Given the description of an element on the screen output the (x, y) to click on. 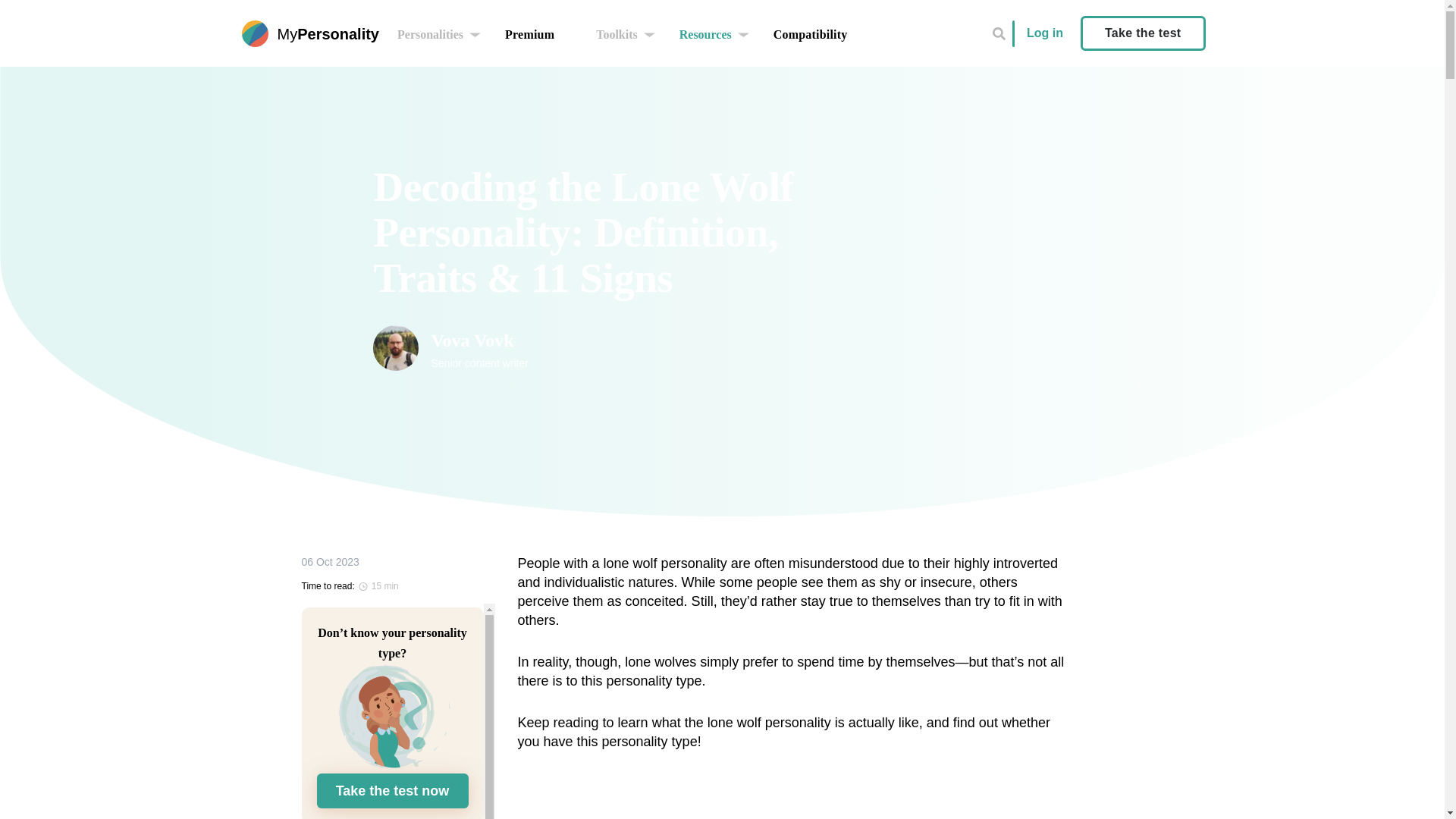
Resources (613, 348)
Take the test (705, 34)
Toolkits (1142, 32)
Log in (616, 34)
Compatibility (1044, 32)
Personalities (810, 34)
Take the test now (430, 34)
Premium (392, 790)
MyPersonality (529, 34)
